Given the description of an element on the screen output the (x, y) to click on. 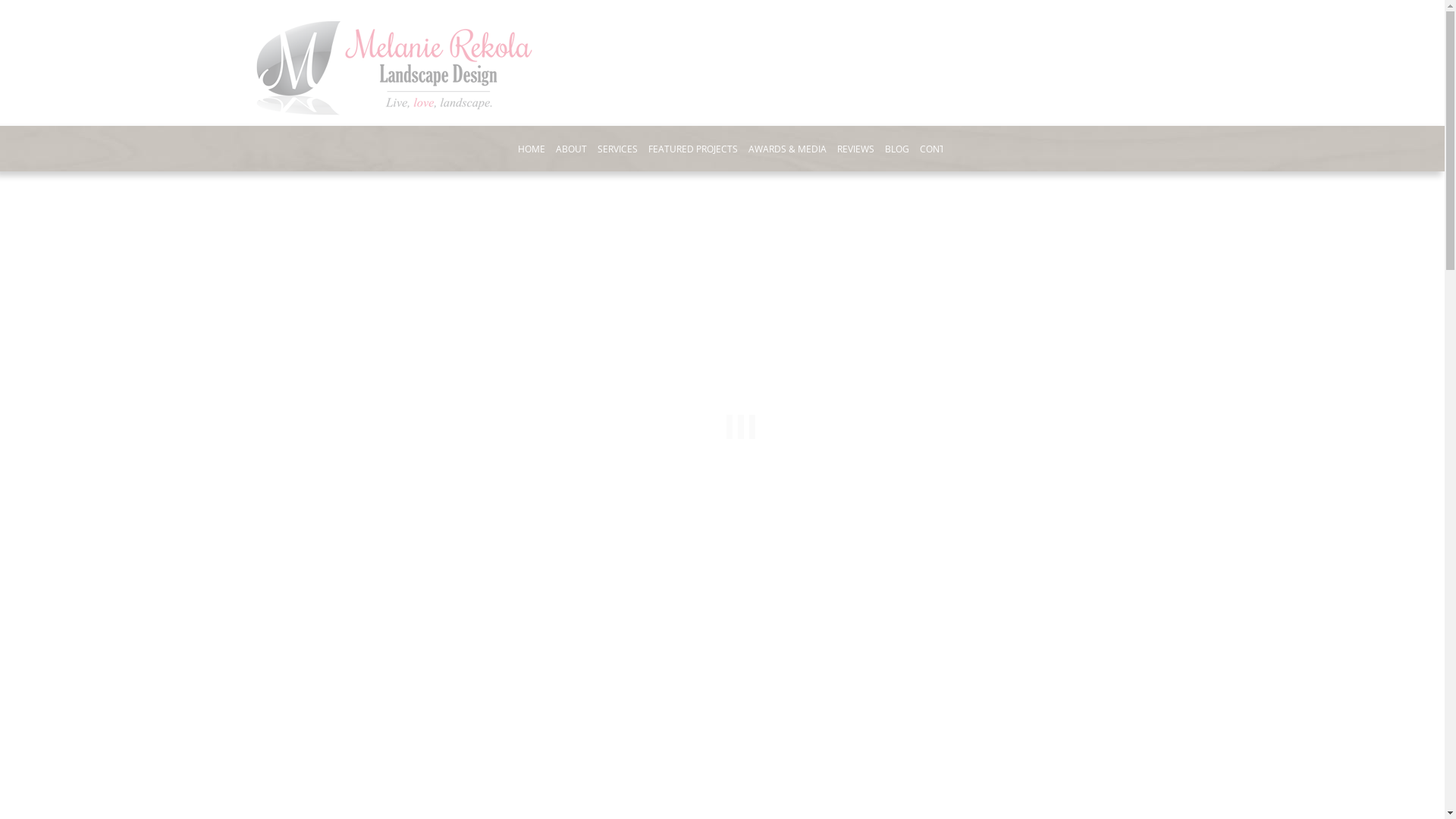
SERVICES Element type: text (617, 148)
BLOG Element type: text (896, 148)
CONTACT US Element type: text (947, 148)
ABOUT Element type: text (570, 148)
HOME Element type: text (530, 148)
REVIEWS Element type: text (855, 148)
FEATURED PROJECTS Element type: text (692, 148)
AWARDS & MEDIA Element type: text (786, 148)
